Given the description of an element on the screen output the (x, y) to click on. 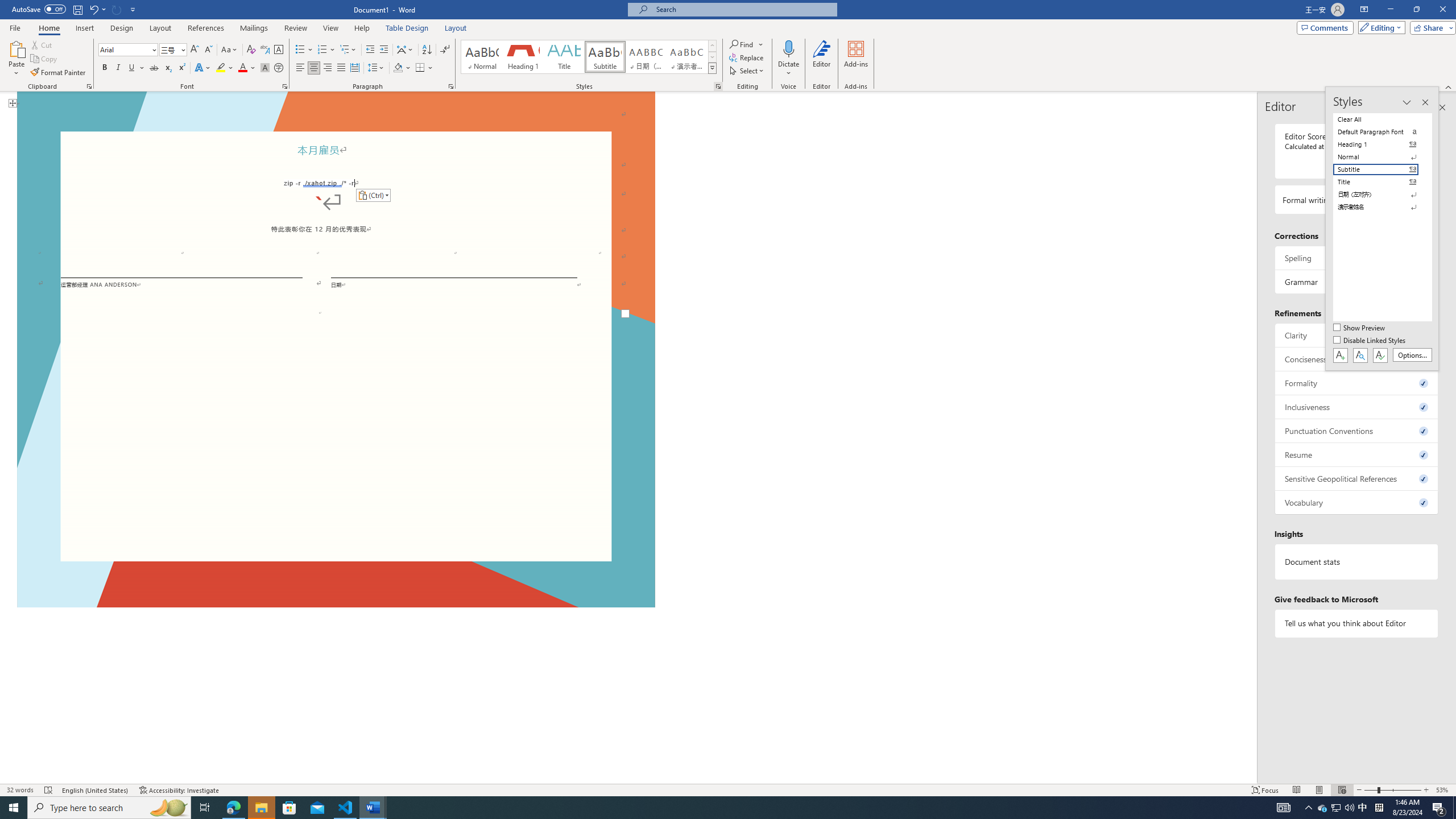
Undo Paste (92, 9)
Clarity, 0 issues. Press space or enter to review items. (1356, 335)
Grammar, 1 issue. Press space or enter to review items. (1356, 281)
